Given the description of an element on the screen output the (x, y) to click on. 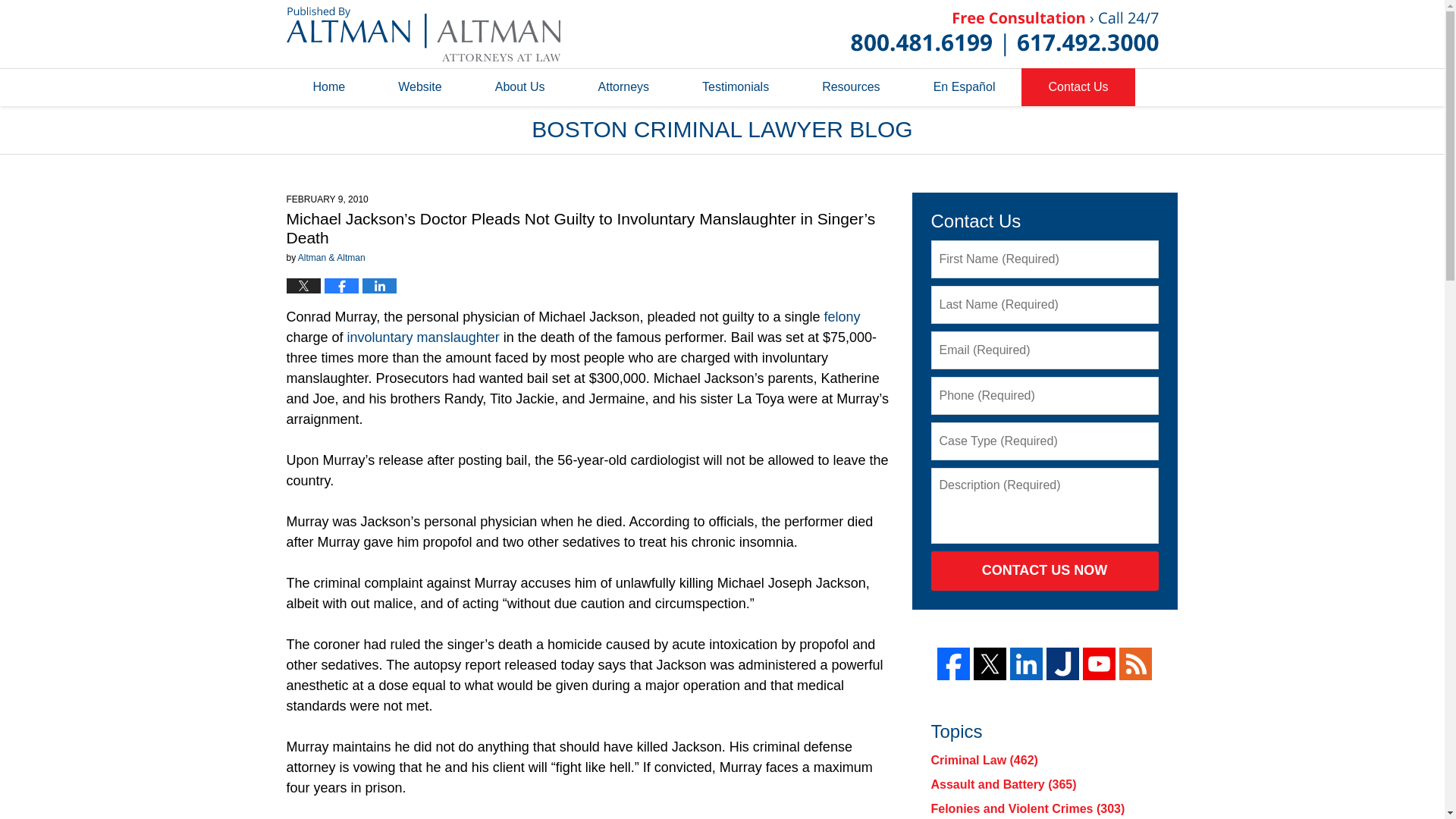
Testimonials (734, 86)
involuntary manslaughter (423, 337)
Please enter a valid phone number. (1044, 395)
YouTube (1099, 663)
Attorneys (624, 86)
Facebook (953, 663)
felony (842, 316)
Justia (1062, 663)
Boston Criminal Lawyer Blog (423, 33)
Website (419, 86)
CONTACT US NOW (1044, 570)
Resources (849, 86)
Twitter (990, 663)
About Us (520, 86)
Feed (1135, 663)
